Given the description of an element on the screen output the (x, y) to click on. 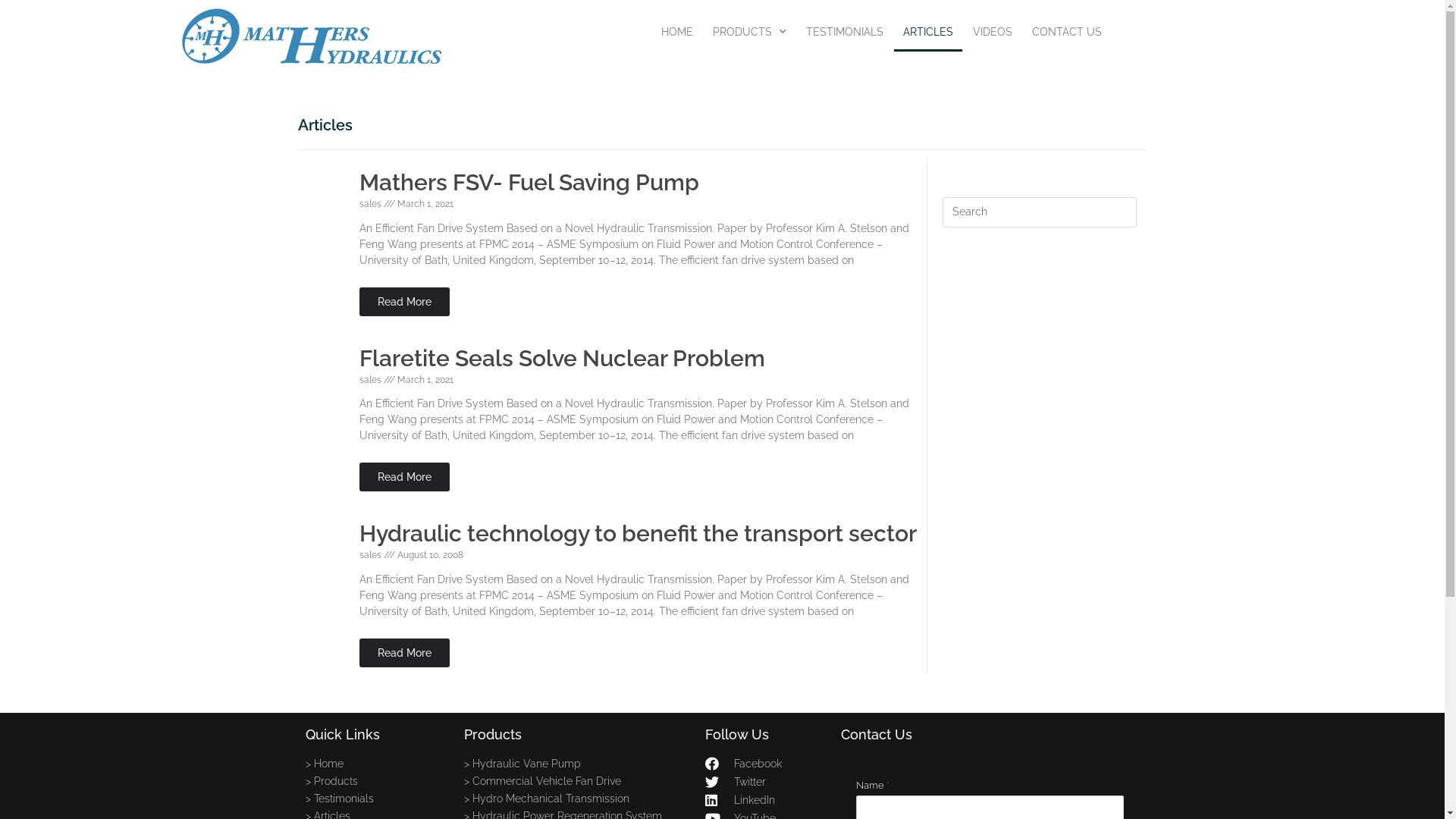
CONTACT US Element type: text (1066, 31)
ARTICLES Element type: text (928, 31)
Flaretite Seals Solve Nuclear Problem Element type: text (562, 358)
Read More Element type: text (404, 652)
TESTIMONIALS Element type: text (844, 31)
> Products Element type: text (376, 780)
Read More Element type: text (404, 476)
> Hydraulic Vane Pump Element type: text (577, 763)
> Testimonials Element type: text (376, 798)
> Home Element type: text (376, 763)
Hydraulic technology to benefit the transport sector Element type: text (637, 533)
Mathers FSV- Fuel Saving Pump Element type: text (529, 182)
Twitter Element type: text (765, 781)
HOME Element type: text (677, 31)
PRODUCTS Element type: text (749, 31)
VIDEOS Element type: text (992, 31)
LinkedIn Element type: text (765, 799)
> Hydro Mechanical Transmission Element type: text (577, 798)
> Commercial Vehicle Fan Drive Element type: text (577, 780)
Read More Element type: text (404, 301)
Facebook Element type: text (765, 763)
